Given the description of an element on the screen output the (x, y) to click on. 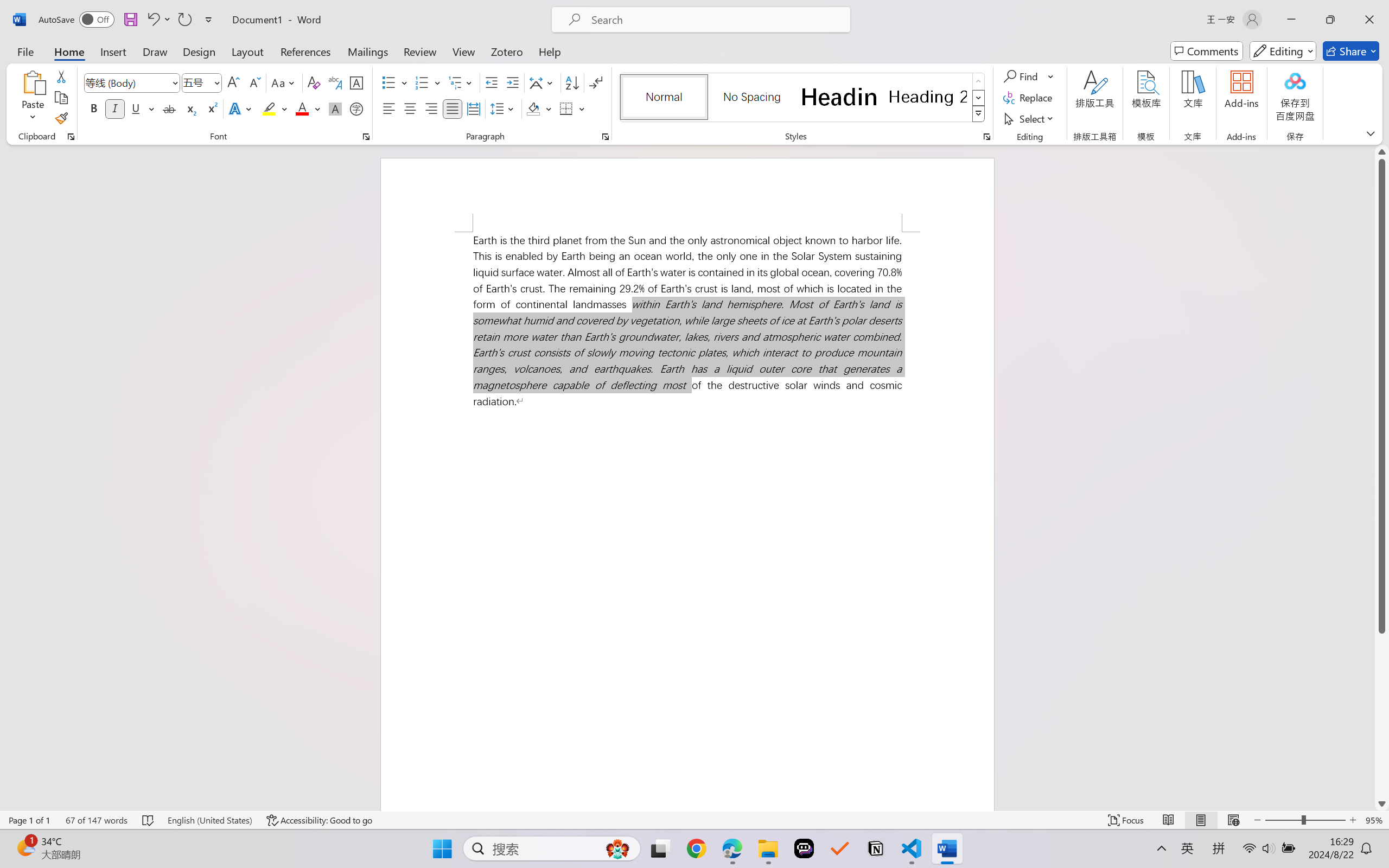
Paragraph... (605, 136)
Text Highlight Color Yellow (269, 108)
Undo Italic (158, 19)
Repeat Doc Close (184, 19)
Decrease Indent (491, 82)
Text Highlight Color (274, 108)
Microsoft search (715, 19)
